Given the description of an element on the screen output the (x, y) to click on. 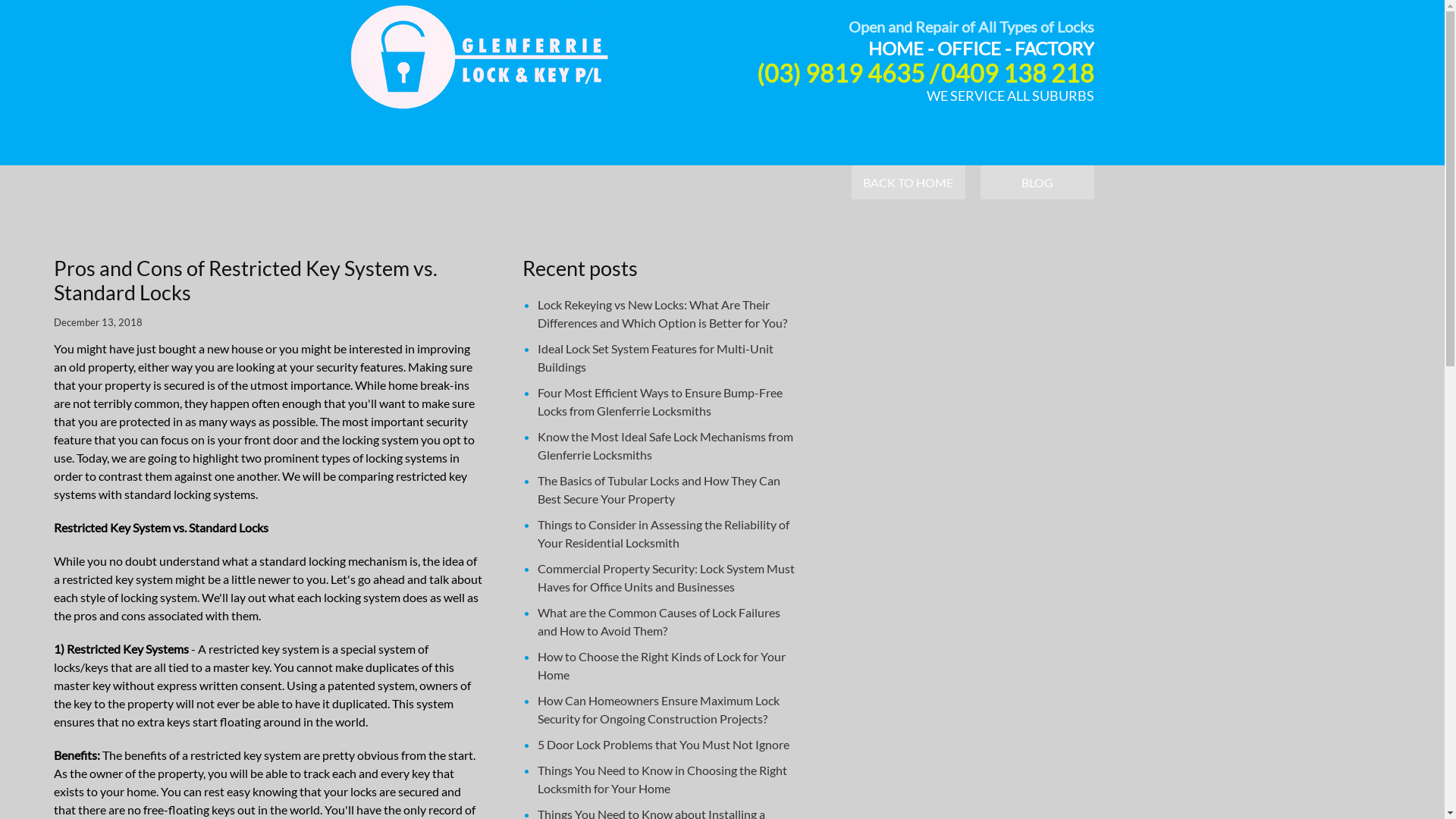
BLOG Element type: text (1036, 182)
How to Choose the Right Kinds of Lock for Your Home Element type: text (661, 665)
Ideal Lock Set System Features for Multi-Unit Buildings Element type: text (655, 357)
5 Door Lock Problems that You Must Not Ignore Element type: text (663, 744)
Glenferrie Locksmiths Element type: text (478, 56)
BACK TO HOME Element type: text (907, 182)
